Given the description of an element on the screen output the (x, y) to click on. 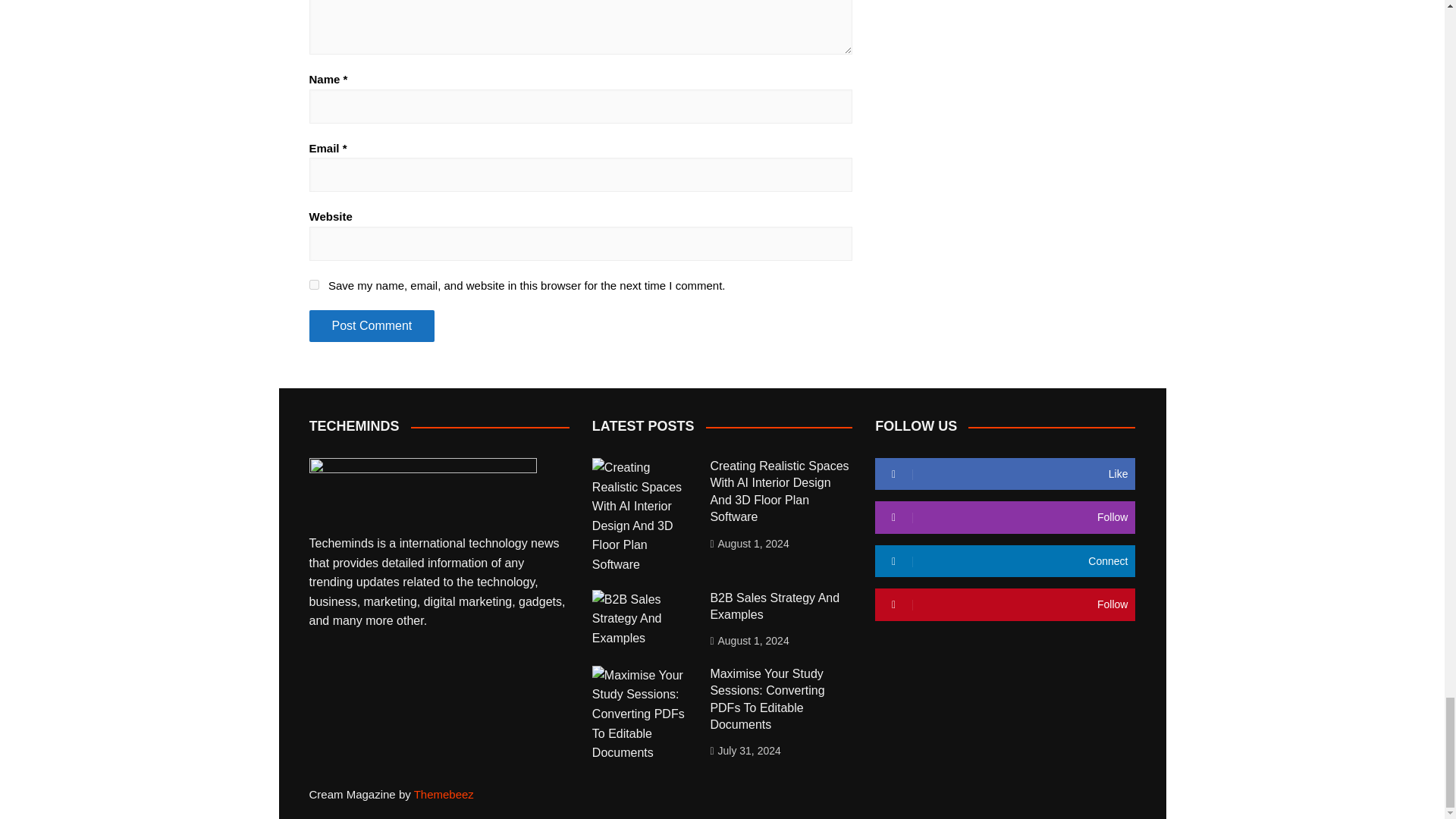
yes (313, 284)
Post Comment (371, 326)
